Given the description of an element on the screen output the (x, y) to click on. 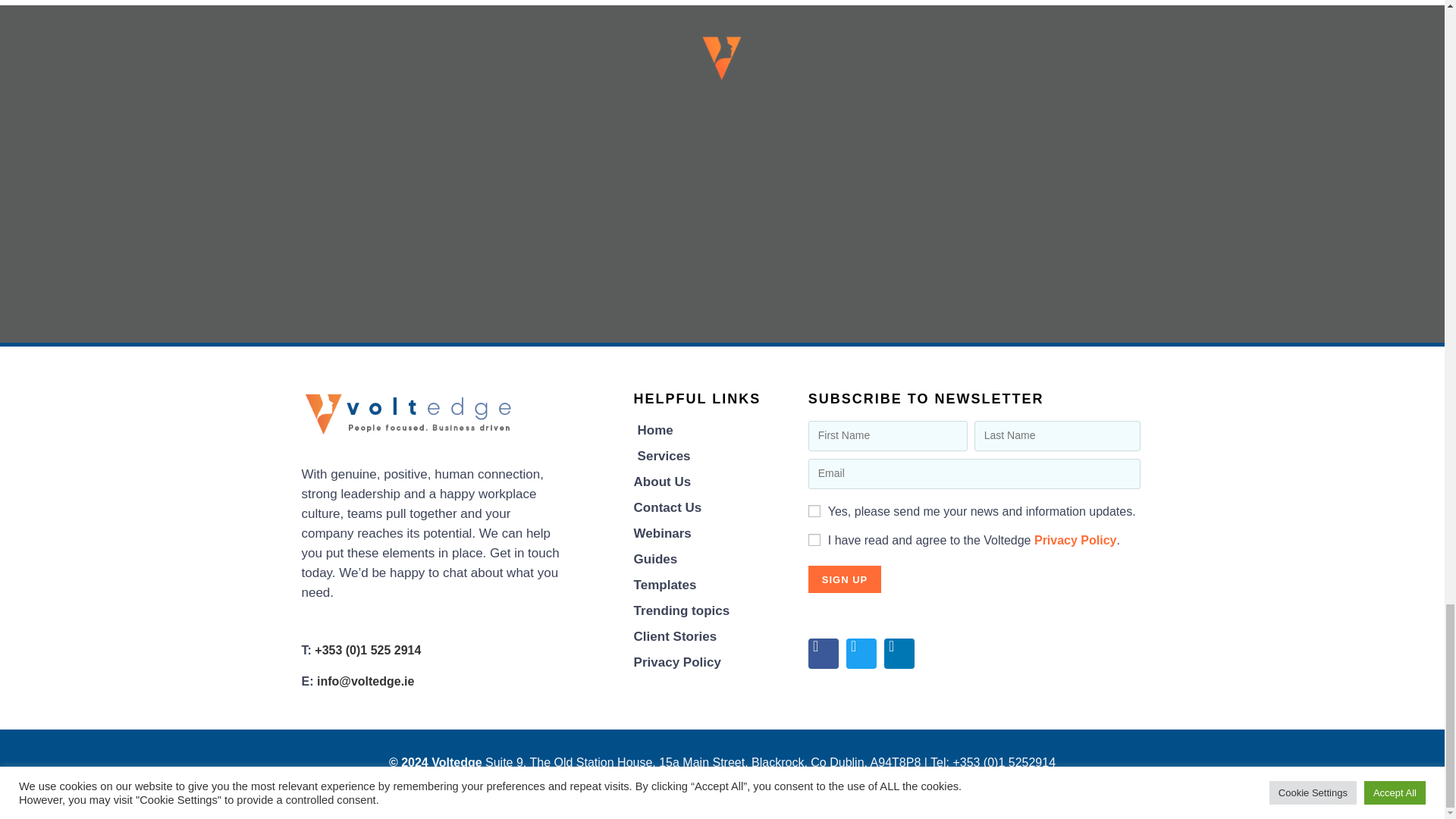
1 (814, 539)
Sign up (844, 578)
1 (814, 510)
